Given the description of an element on the screen output the (x, y) to click on. 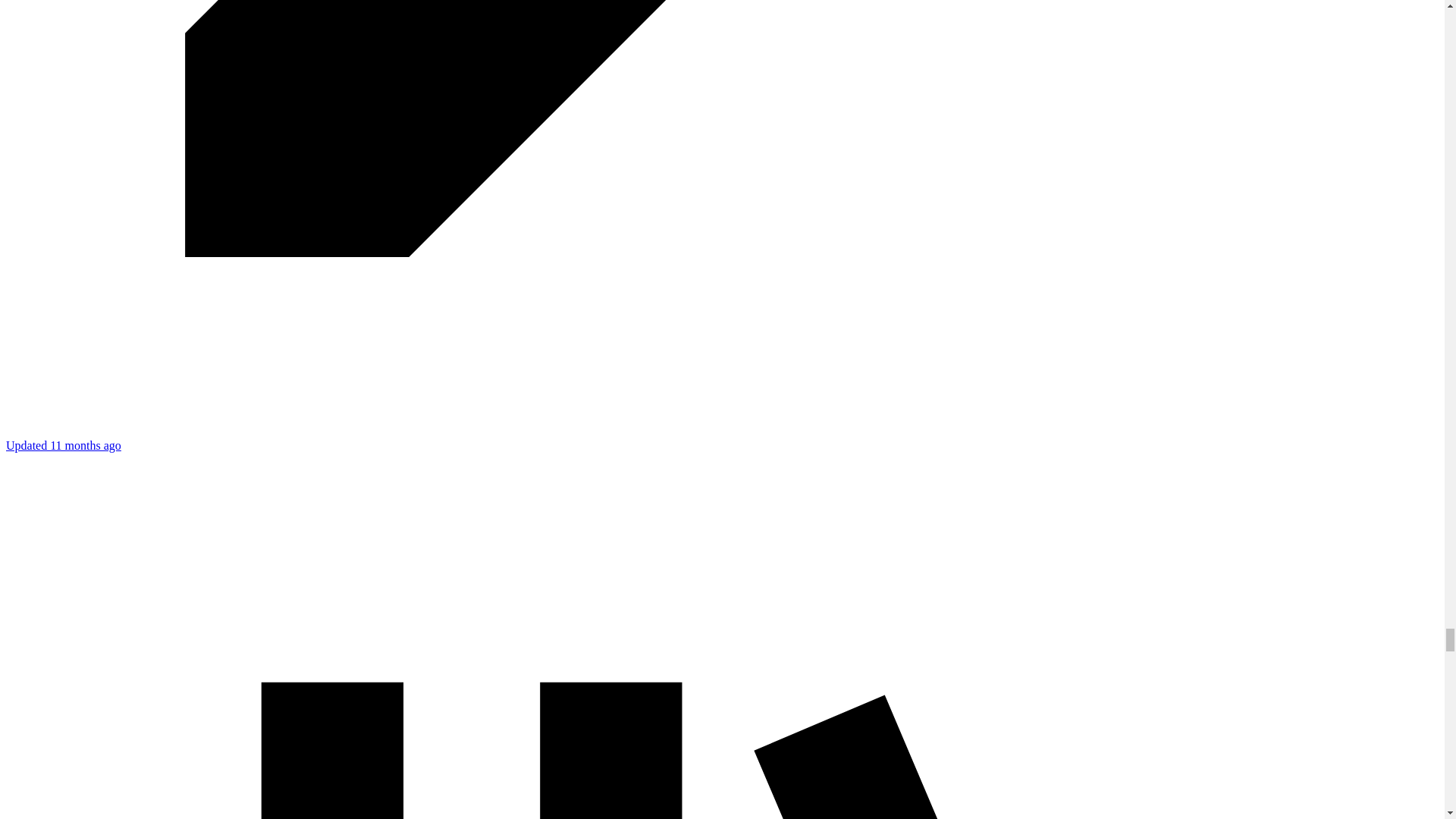
Mon, Aug 21, 2023 10:24 PM (62, 445)
